Given the description of an element on the screen output the (x, y) to click on. 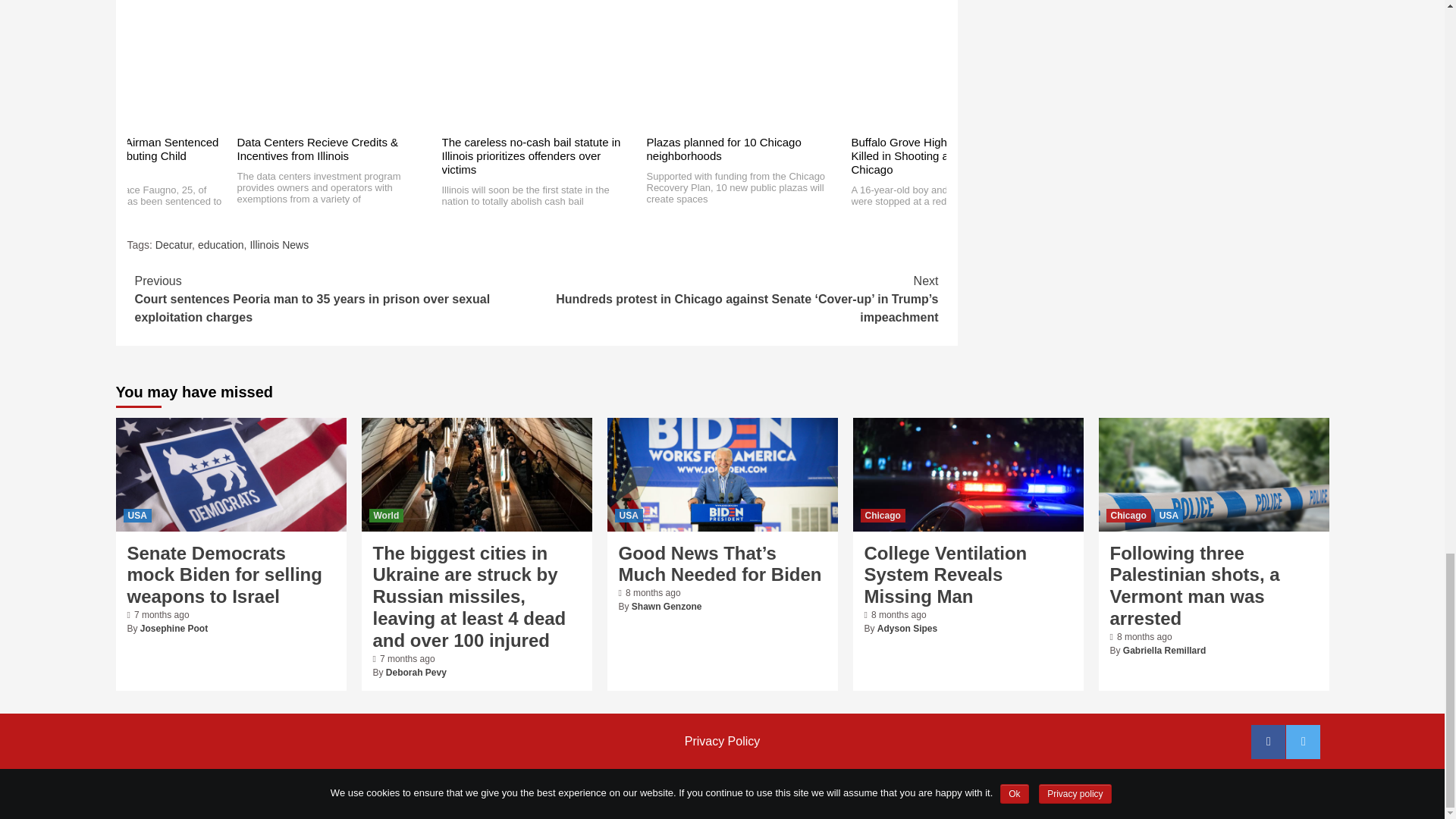
Plazas planned for 10 Chicago neighborhoods (723, 148)
